Given the description of an element on the screen output the (x, y) to click on. 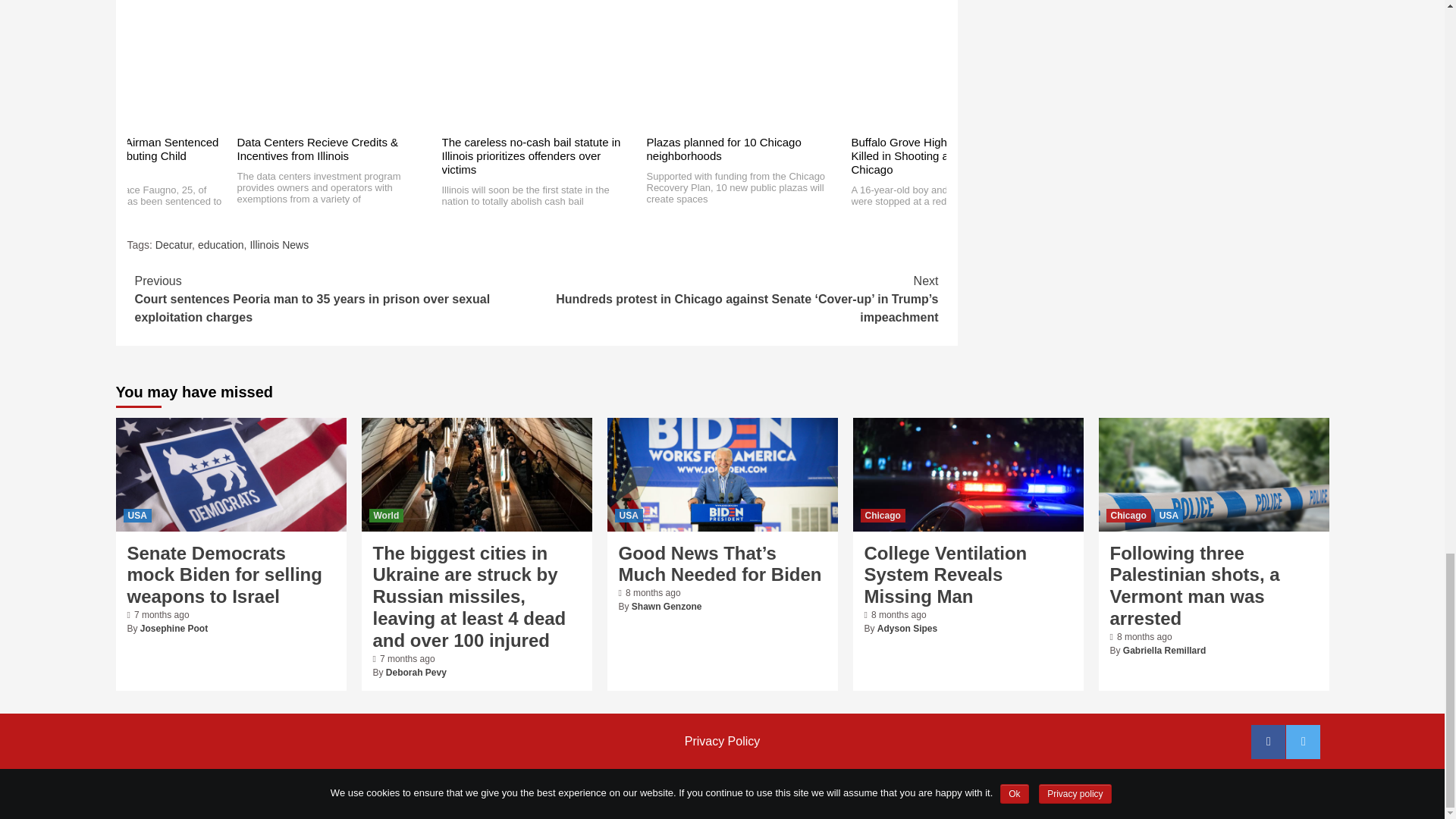
Plazas planned for 10 Chicago neighborhoods (723, 148)
